Given the description of an element on the screen output the (x, y) to click on. 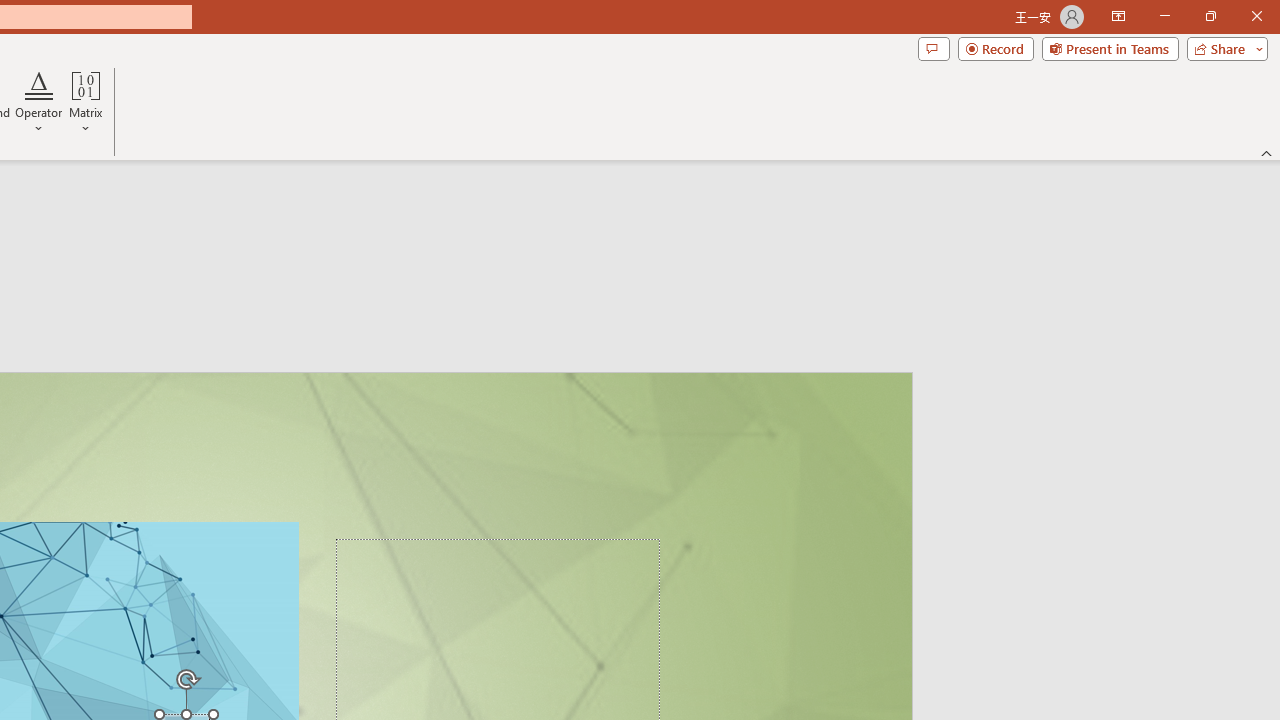
Matrix (86, 102)
Operator (38, 102)
